Given the description of an element on the screen output the (x, y) to click on. 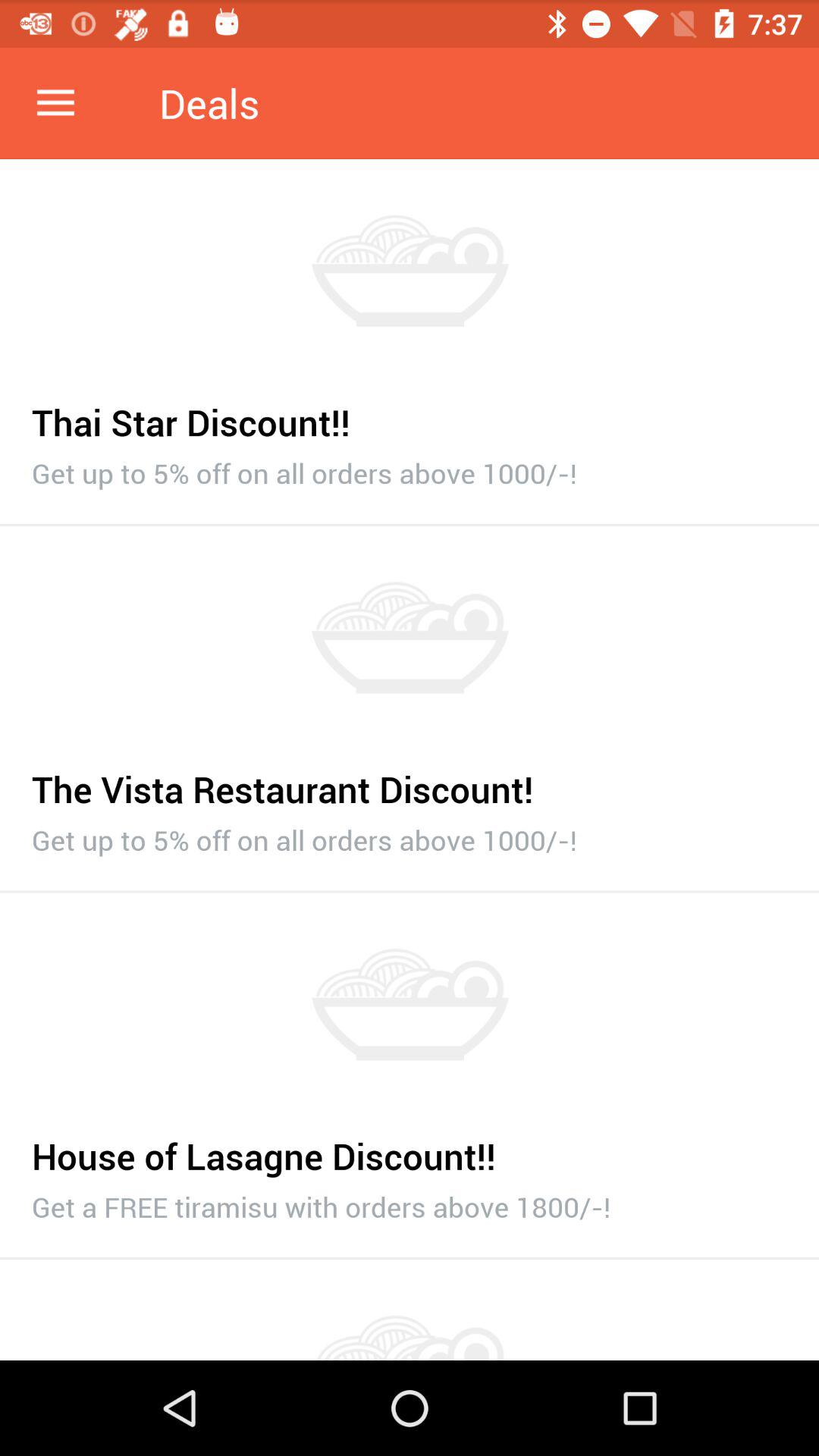
turn off item below the get a free item (409, 1258)
